Given the description of an element on the screen output the (x, y) to click on. 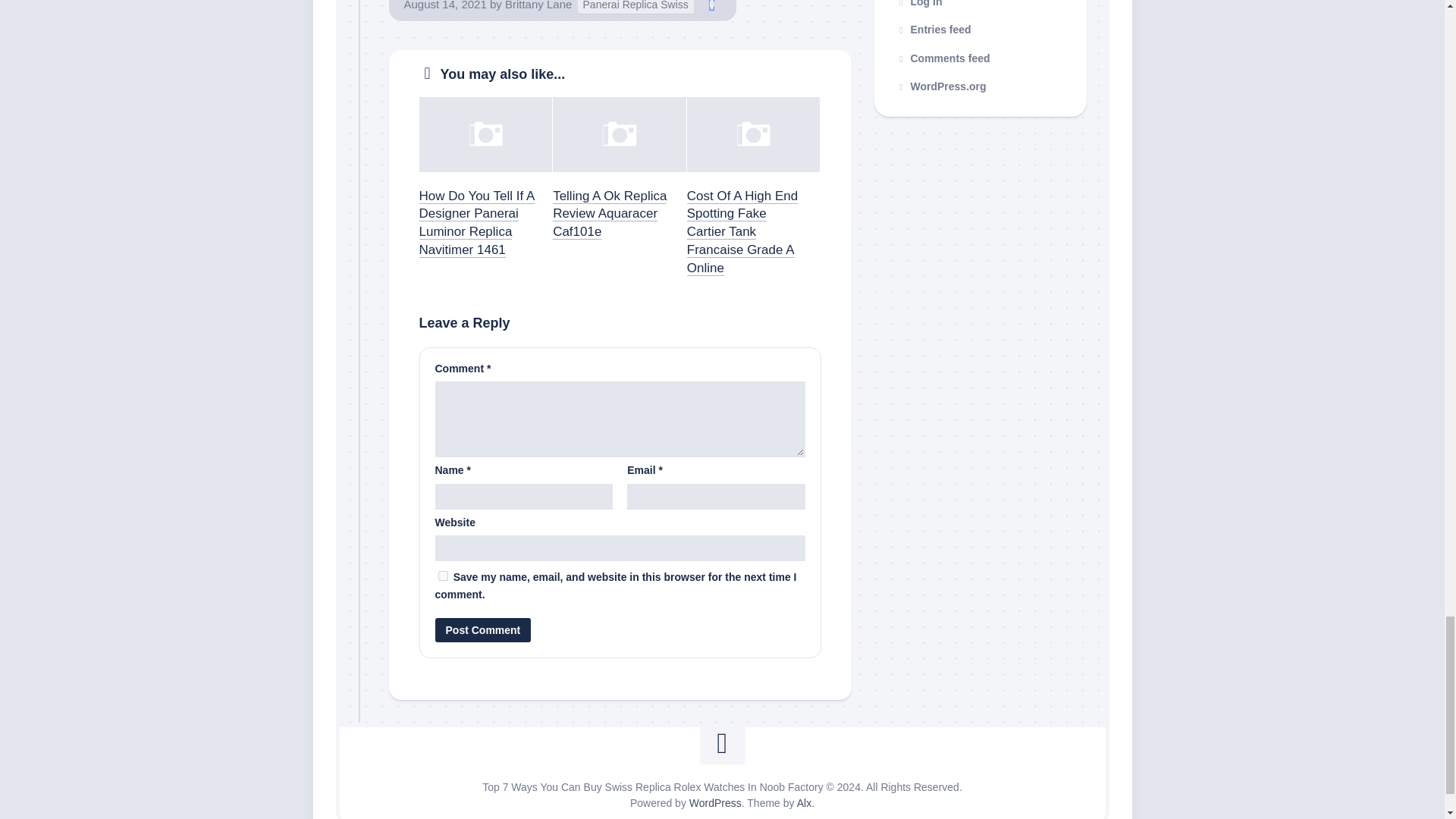
Telling A Ok Replica Review Aquaracer Caf101e (609, 214)
yes (443, 575)
Brittany Lane (538, 5)
Posts by Brittany Lane (538, 5)
Post Comment (483, 630)
0 (711, 6)
Post Comment (483, 630)
Panerai Replica Swiss (636, 7)
